Given the description of an element on the screen output the (x, y) to click on. 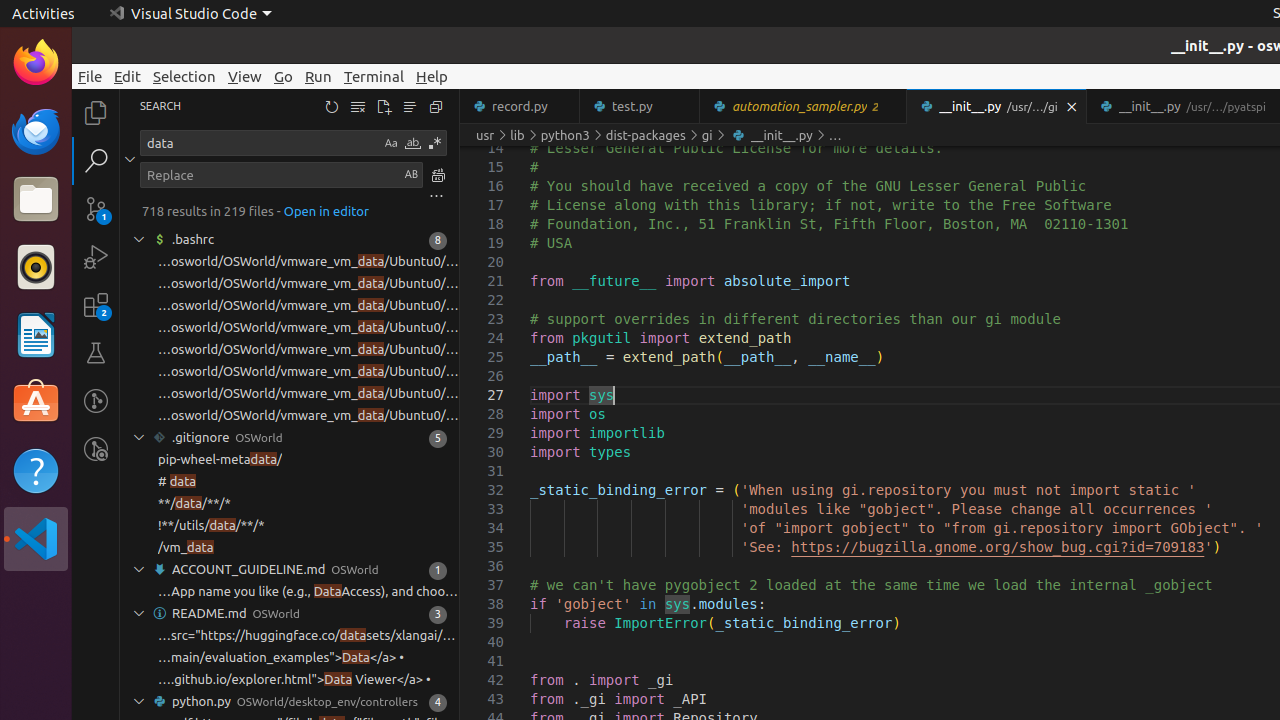
'alias vmbash='function _vmbash() { vmrun -T ws -gu user -gp password runScriptInGuest /home/PJLAB/luyi1/osworld/OSWorld/vmware_vm_data/Ubuntu0/Ubuntu0.vmx "/bin/bash" "$1 > /home/user/vm.log 2>&1" && vmrun -gu user -gp password copyFileFromGuestToHost /home/PJLAB/luyi1/osworld/OSWorld/vmware_vm_data/Ubuntu0/Ubuntu0.vmx /home/user/vm.log vm.log; }; _vmbash' vmrun -T ws -gu user -gp password runScriptInGuest /home/PJLAB/luyi1/osworld/OSWorld/vmware_vm_data/Ubuntu0/Ubuntu0.vmx "/bin/bash" "ip a > /home/user/vm.log" && vmrun -gu user -gp password copyFileFromGuestToHost /home/PJLAB/luyi1/osworld/OSWorld/vmware_vm_data/Ubuntu0/Ubuntu0.vmx /home/user/vm.log vm.log' at column 618 found data Element type: tree-item (289, 371)
…src="https://huggingface.co/datasets/xlangai/assets/resolve/main/github_banner_v2.png" alt="Banner"> Element type: link (308, 635)
…osworld/OSWorld/vmware_vm_data/Ubuntu0/Ubuntu0.vmx /home/user/vm.log vm.log Element type: link (308, 371)
….github.io/explorer.html">Data Viewer</a> • Element type: link (294, 679)
Search (Ctrl+Shift+F) Element type: page-tab (96, 160)
